Given the description of an element on the screen output the (x, y) to click on. 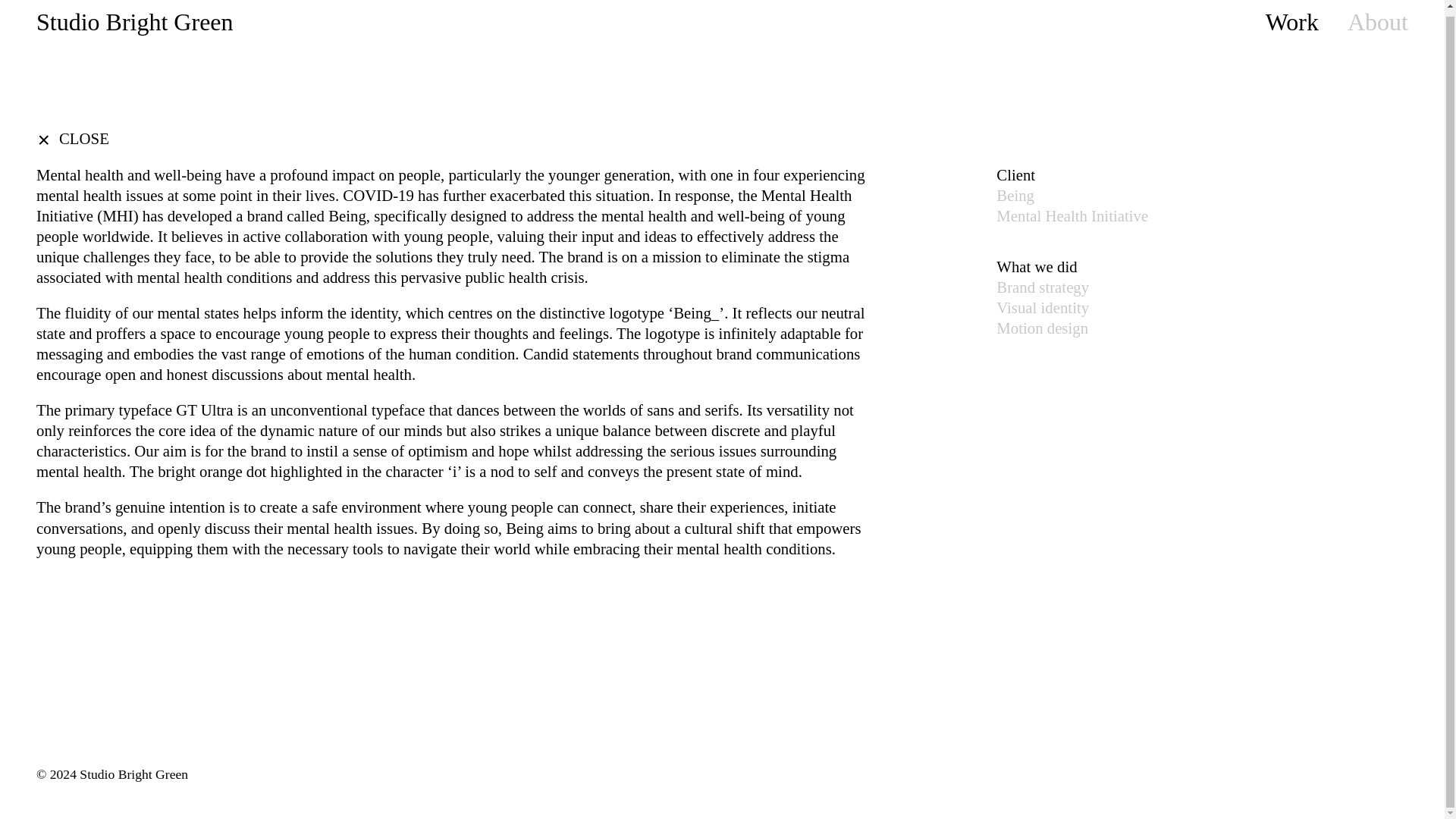
Studio Bright Green (134, 22)
CLOSE (72, 139)
About (1377, 22)
Work (1292, 22)
